Given the description of an element on the screen output the (x, y) to click on. 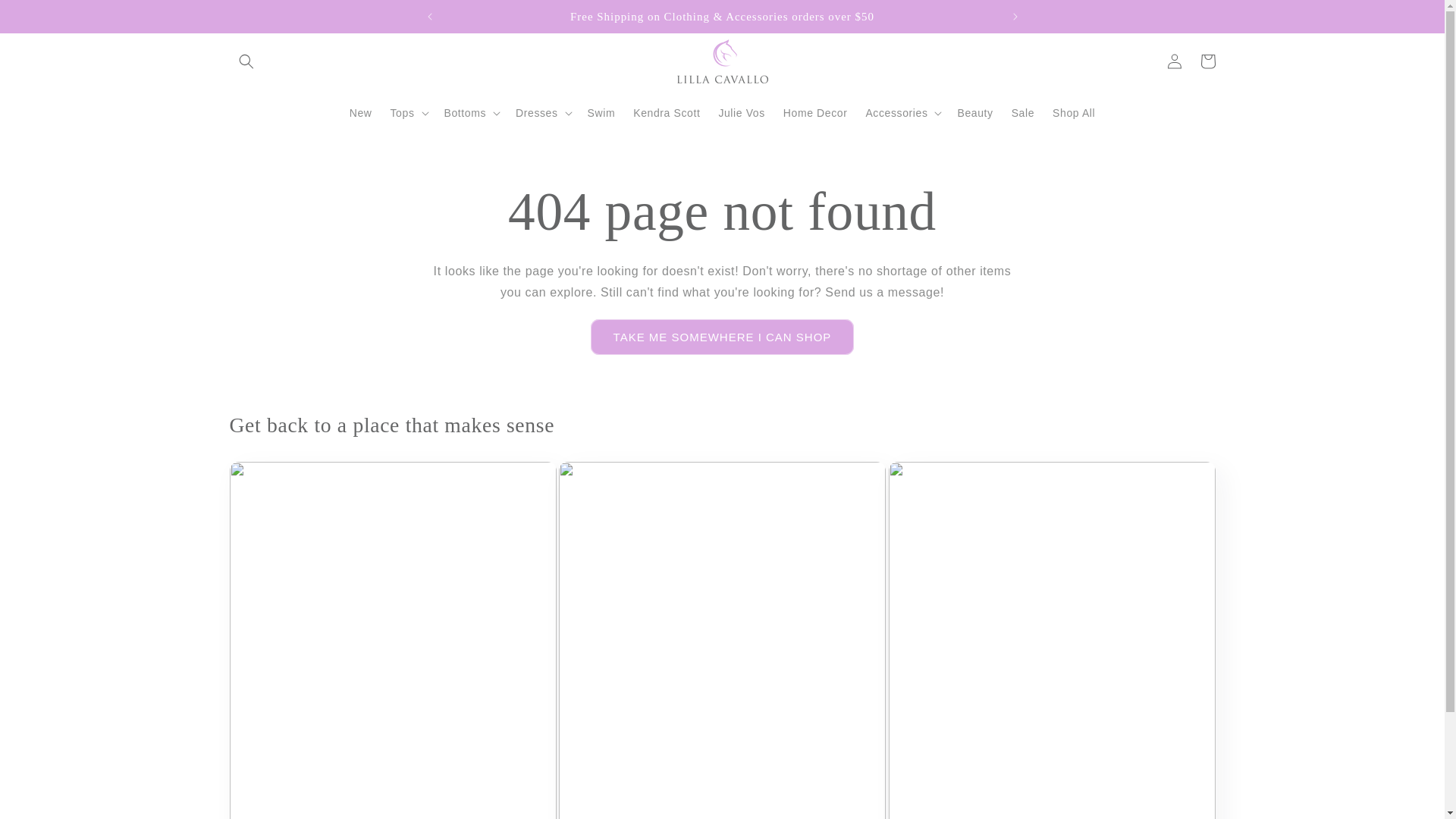
Skip to content (45, 17)
